Given the description of an element on the screen output the (x, y) to click on. 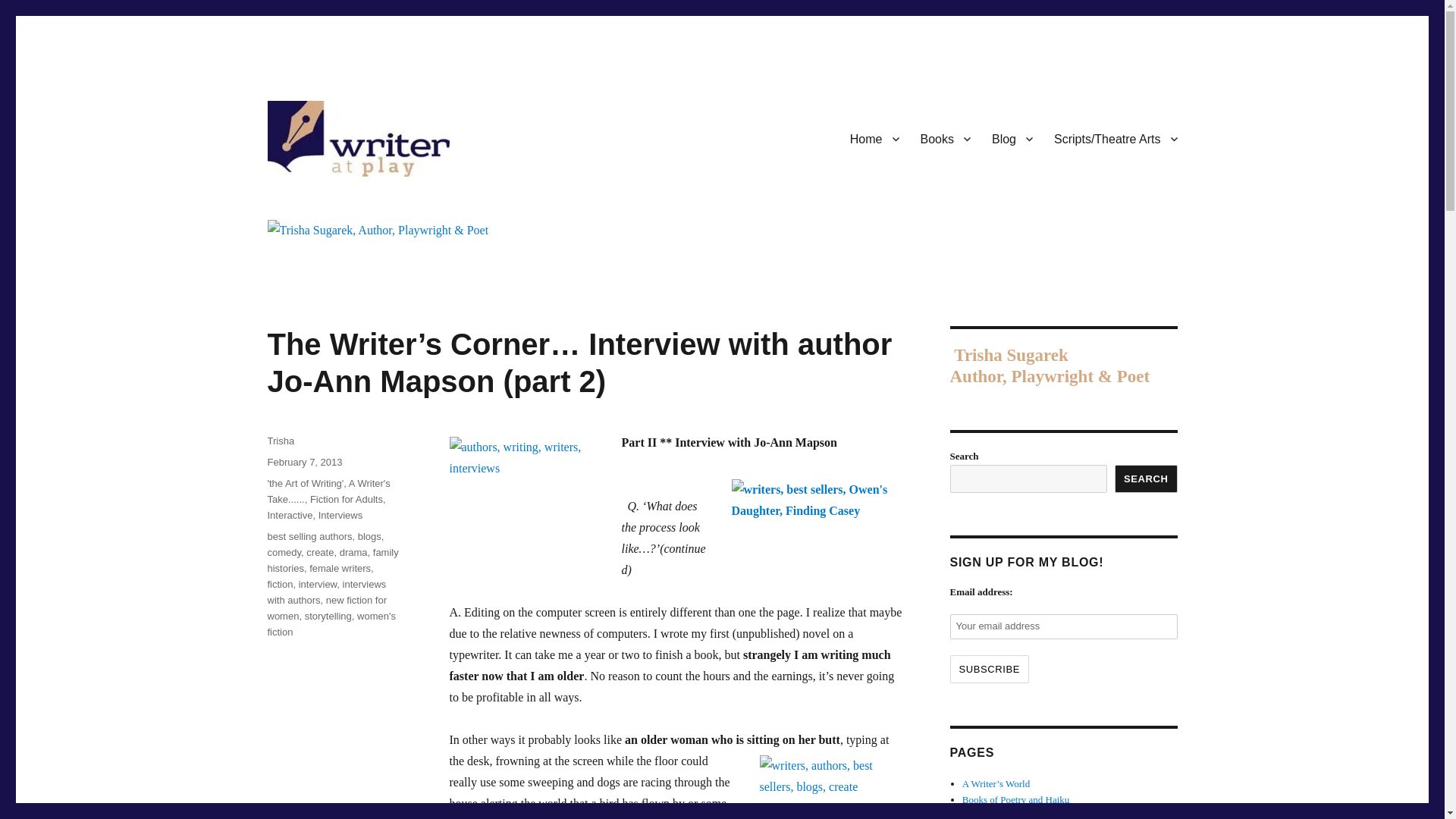
Home (875, 138)
Books (945, 138)
Blog (1012, 138)
Subscribe (989, 669)
